Given the description of an element on the screen output the (x, y) to click on. 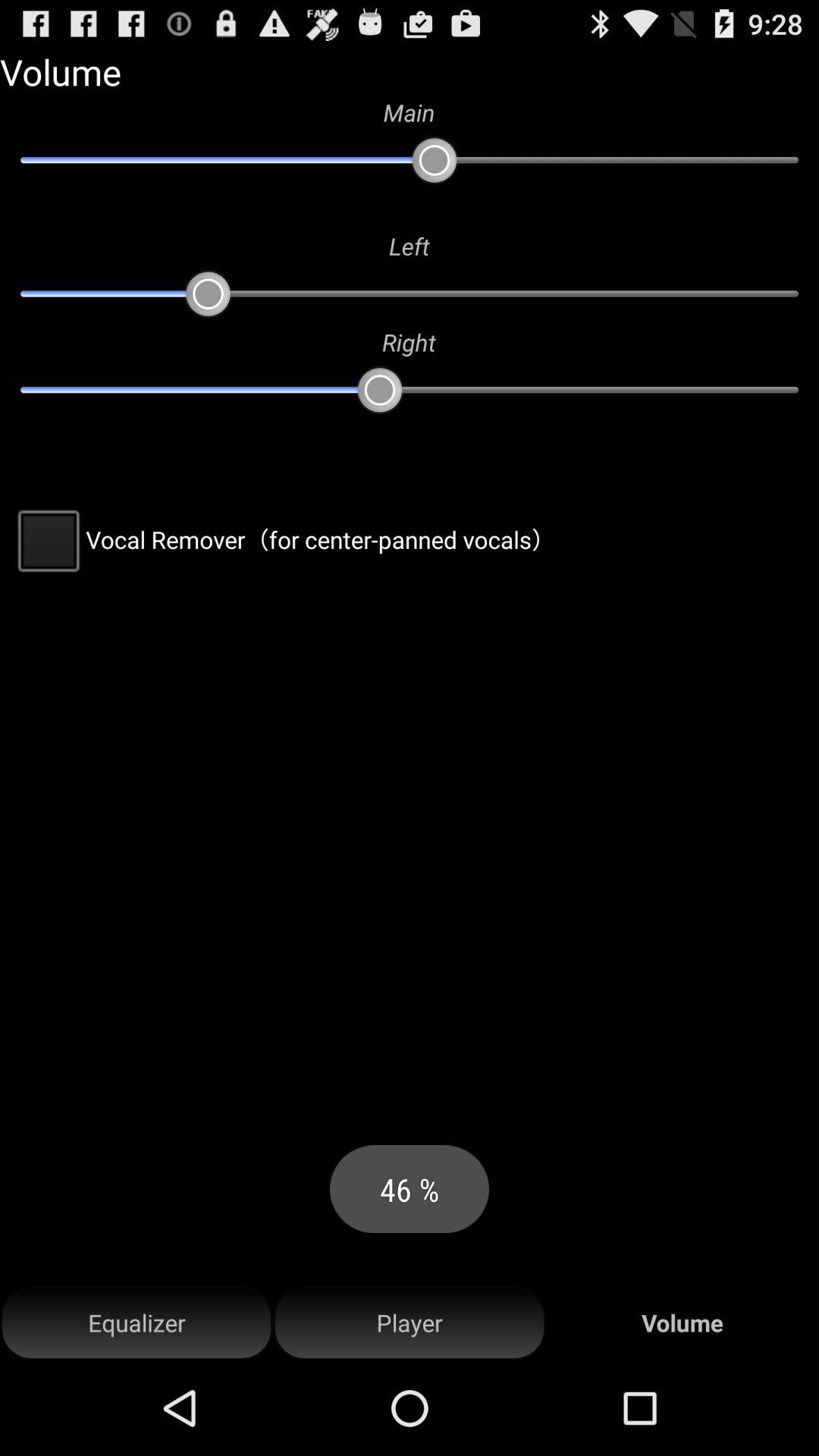
scroll to the vocal remover for checkbox (282, 539)
